Given the description of an element on the screen output the (x, y) to click on. 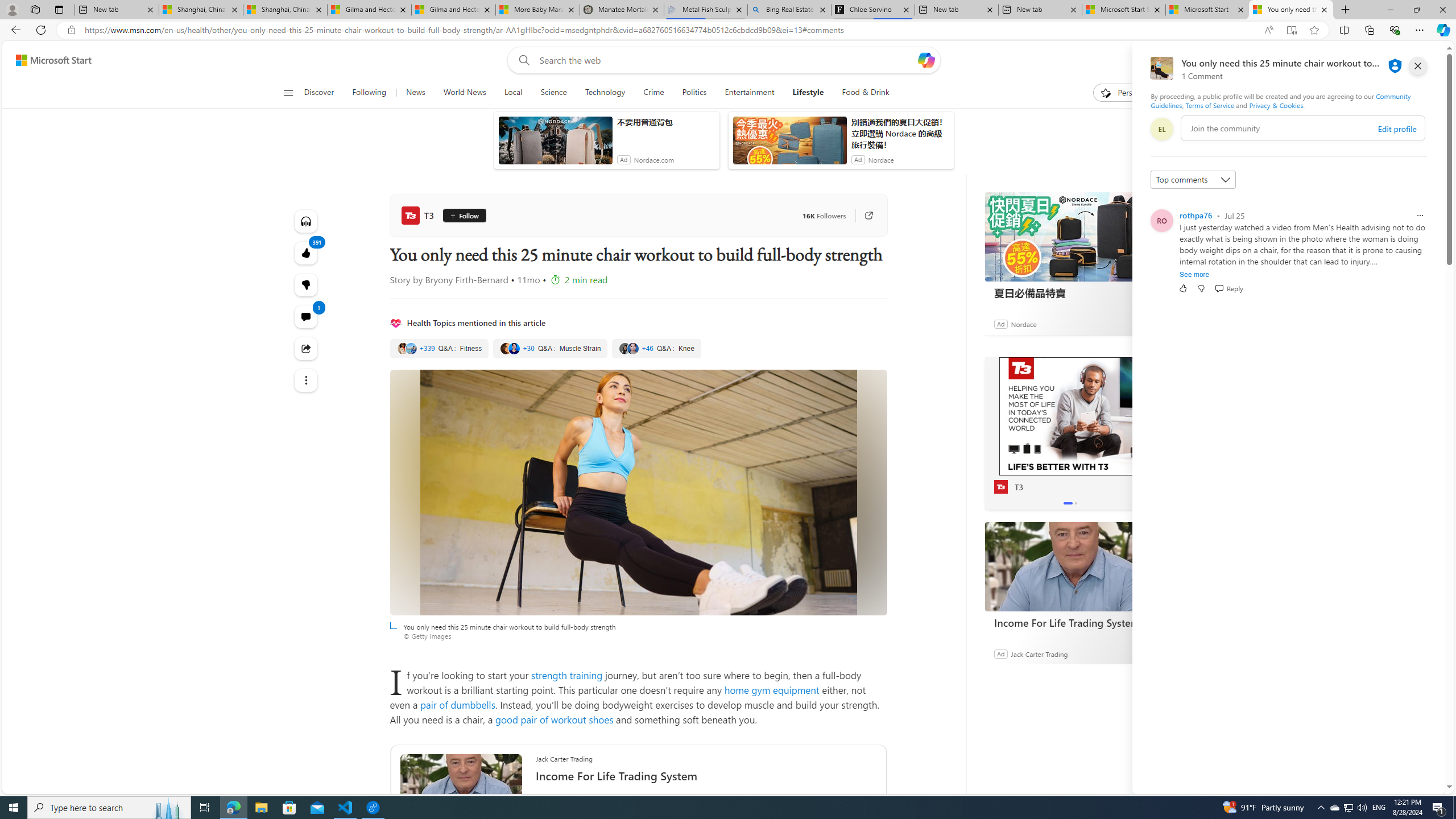
T3 (1070, 416)
Edit profile (1396, 128)
Income For Life Trading System (1069, 622)
Report comment (1419, 215)
Share this story (305, 348)
Entertainment (749, 92)
Technology (605, 92)
Open navigation menu (287, 92)
rothpa76 (1195, 215)
pair of dumbbells (457, 704)
